Given the description of an element on the screen output the (x, y) to click on. 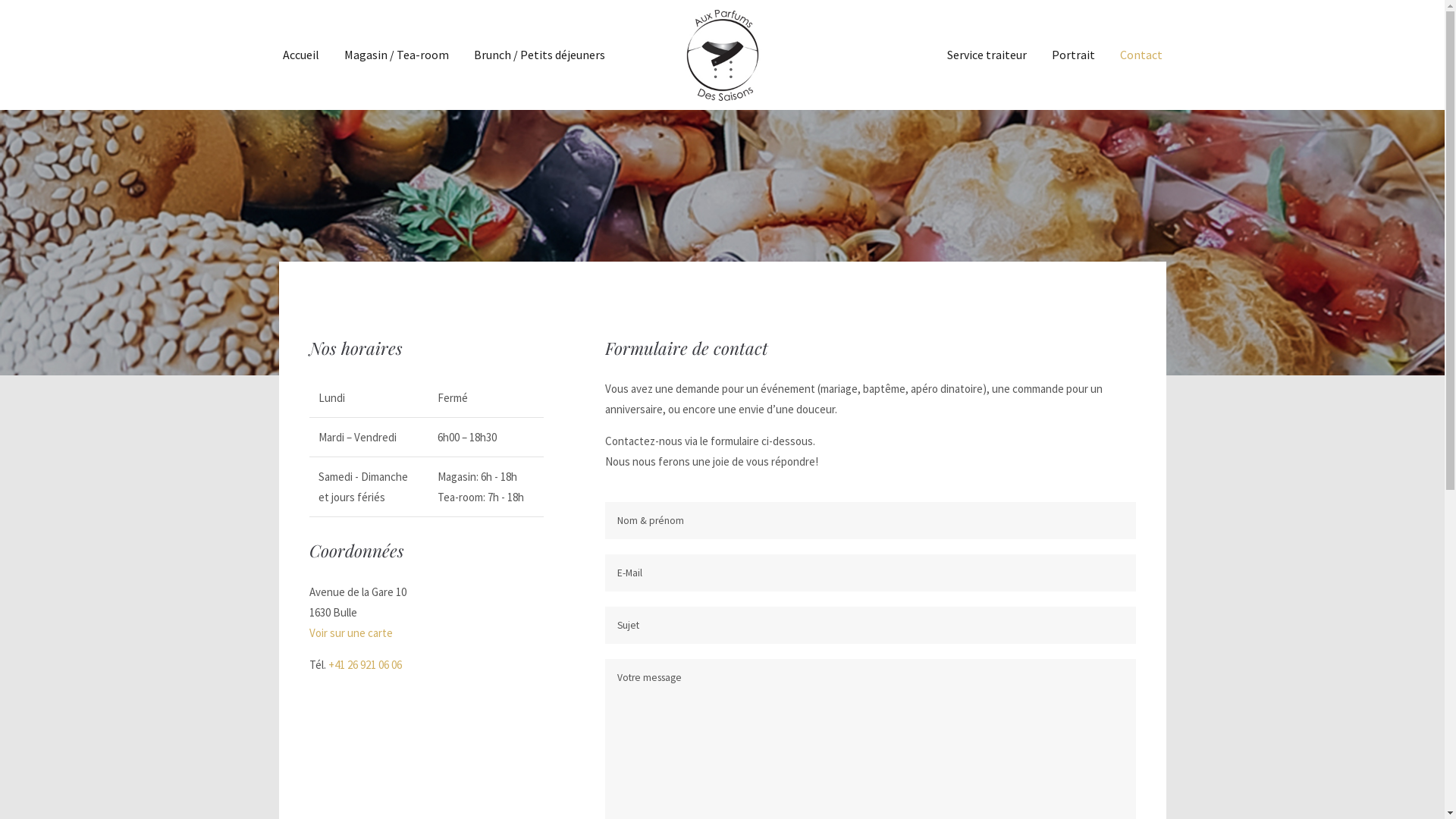
Contact Element type: text (1140, 54)
Portrait Element type: text (1072, 54)
Service traiteur Element type: text (986, 54)
Voir sur une carte Element type: text (350, 631)
+41 26 921 06 06 Element type: text (364, 663)
Accueil Element type: text (300, 54)
Magasin / Tea-room Element type: text (396, 54)
